Given the description of an element on the screen output the (x, y) to click on. 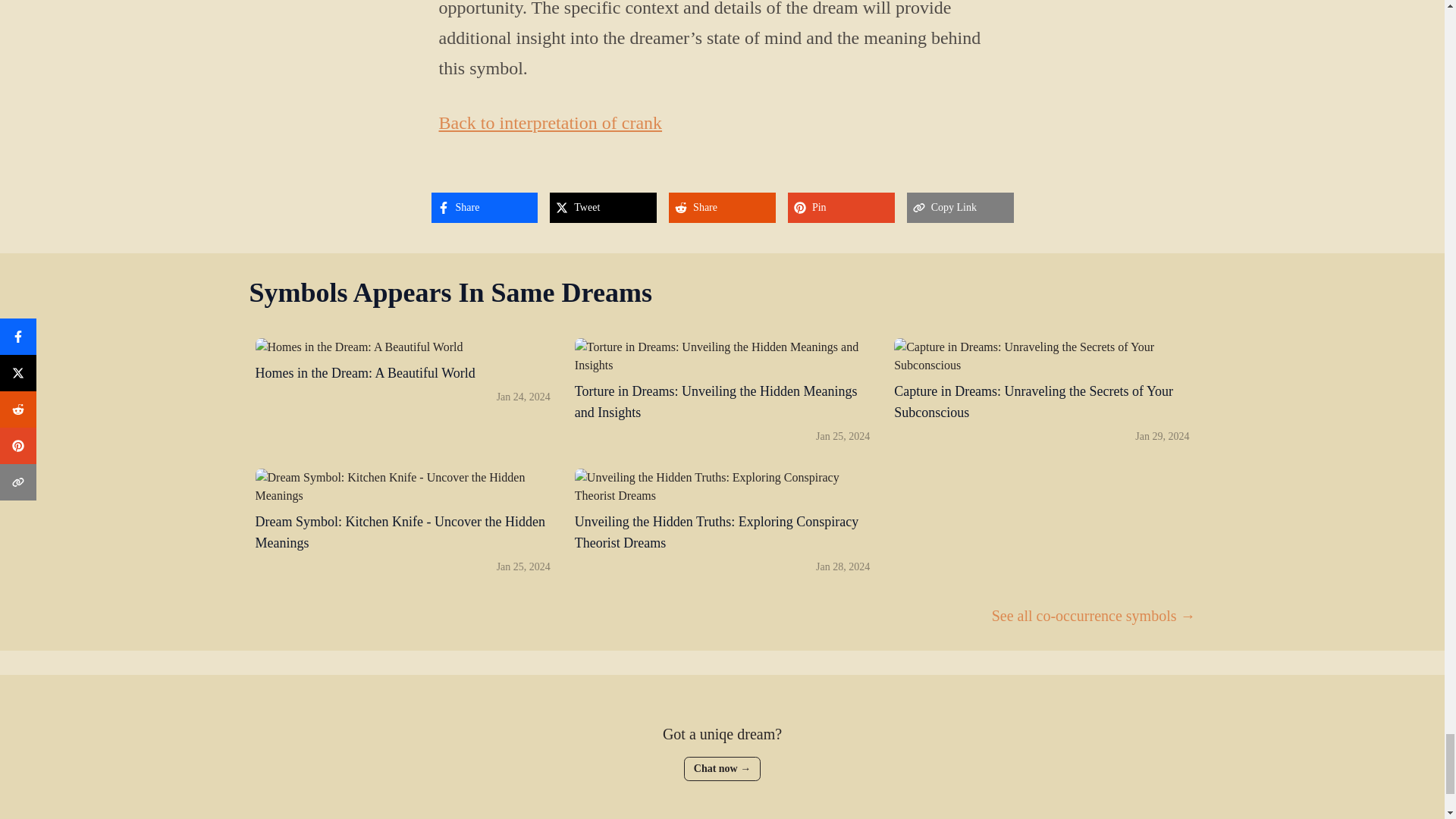
Tweet (603, 207)
Symbols Appears In Same Dreams (449, 292)
Back to interpretation of crank (550, 122)
Dream Symbol: Kitchen Knife - Uncover the Hidden Meanings (402, 486)
Pin (841, 207)
Share (722, 207)
Copy Link (402, 391)
Homes in the Dream: A Beautiful World (960, 207)
